Given the description of an element on the screen output the (x, y) to click on. 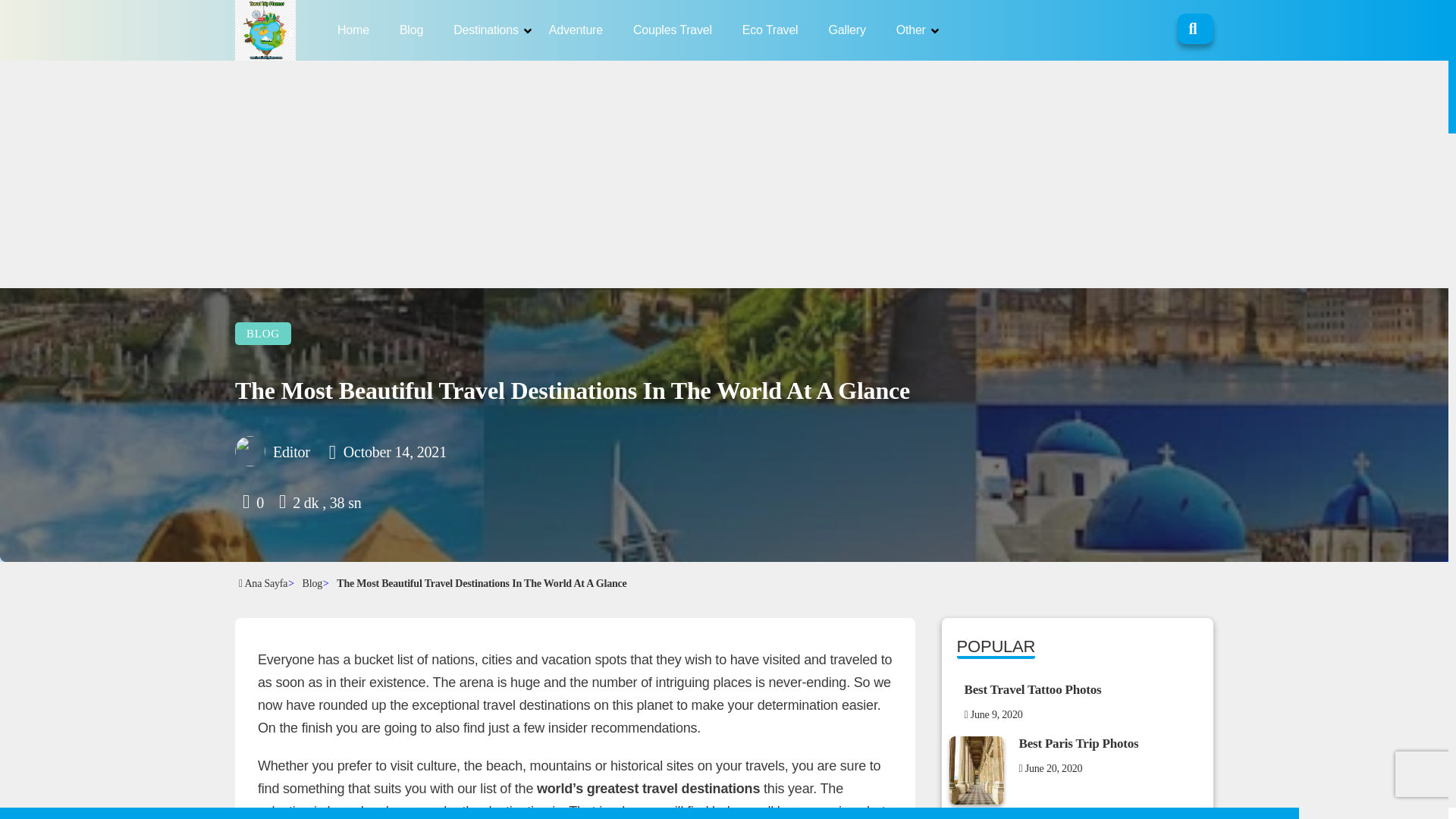
Eco Travel (769, 29)
Gallery (846, 29)
Blog (410, 29)
BLOG (262, 333)
Home (353, 29)
Couples Travel (672, 29)
Adventure (575, 29)
Destinations (485, 29)
Other (911, 29)
